Given the description of an element on the screen output the (x, y) to click on. 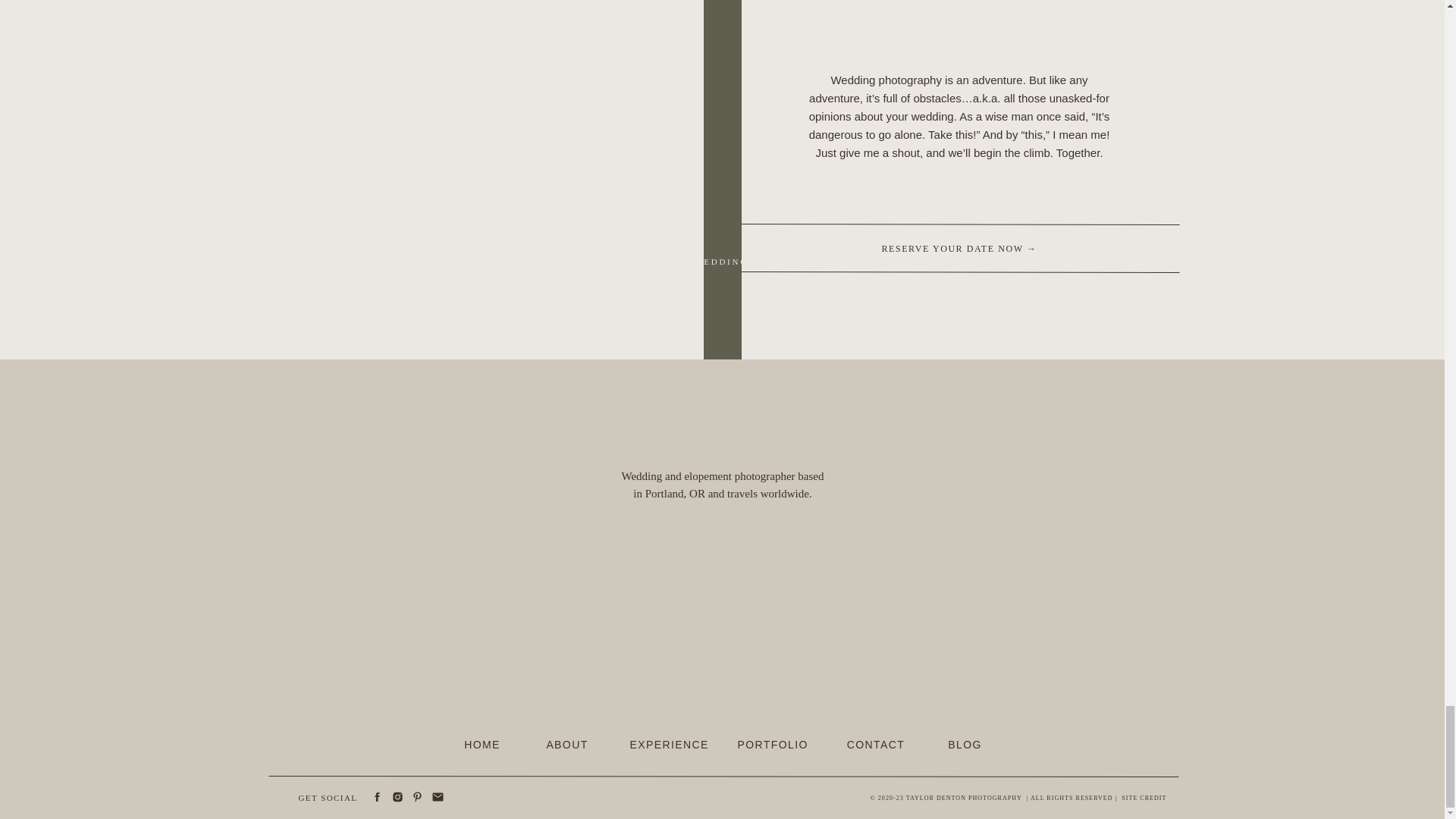
BLOG (964, 743)
EXPERIENCE (663, 743)
CONTACT (875, 743)
PORTFOLIO (771, 743)
HOME (481, 743)
ABOUT (567, 743)
